Given the description of an element on the screen output the (x, y) to click on. 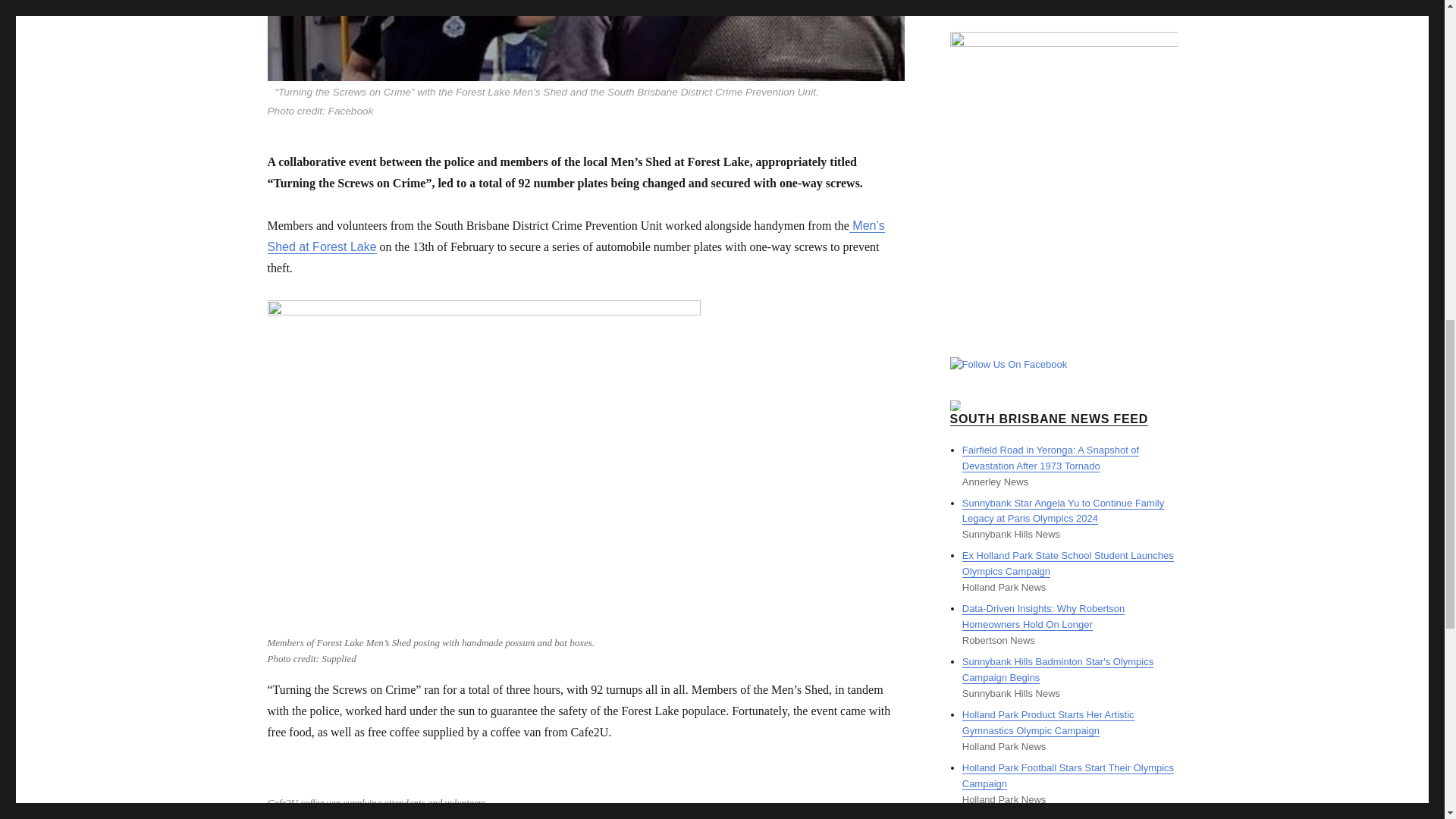
Sunnybank Hills Badminton Star's Olympics Campaign Begins (1057, 669)
SOUTH BRISBANE NEWS FEED (1048, 418)
Holland Park Football Stars Start Their Olympics Campaign (1067, 775)
